Given the description of an element on the screen output the (x, y) to click on. 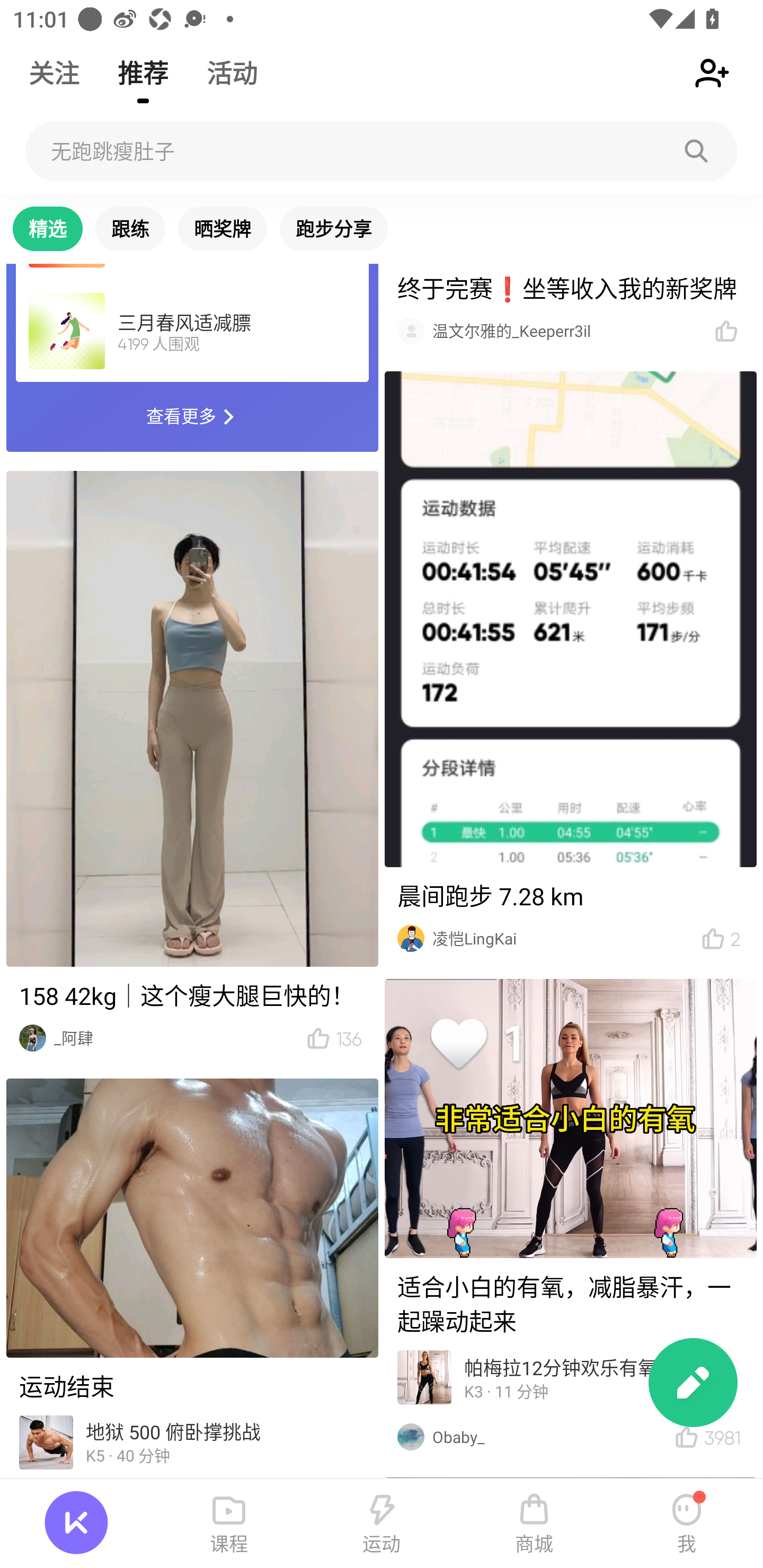
关注 (53, 64)
推荐 (142, 64)
活动 (231, 64)
无跑跳瘦肚子 (381, 150)
精选 (47, 228)
跟练 (130, 228)
晒奖牌 (222, 228)
跑步分享 (333, 228)
三月春风适减膘 4199 人围观 查看更多 (192, 357)
温文尔雅的_Keeperr3il (570, 307)
三月春风适减膘 4199 人围观 (192, 331)
温文尔雅的_Keeperr3il (562, 330)
凌恺LingKai 2  (570, 665)
_阿肆 136  (192, 764)
凌恺LingKai (555, 938)
帕梅拉12分钟欢乐有氧操 暴汗减脂 K3 · 11 分钟 Obaby_ 3981  (570, 1218)
_阿肆 (169, 1037)
地狱 500 俯卧撑挑战 K5 · 40 分钟 (192, 1278)
帕梅拉12分钟欢乐有氧操 暴汗减脂 K3 · 11 分钟 (570, 1380)
地狱 500 俯卧撑挑战 K5 · 40 分钟 (192, 1443)
Obaby_ (542, 1436)
课程 (228, 1523)
运动 (381, 1523)
商城 (533, 1523)
我 (686, 1523)
